Given the description of an element on the screen output the (x, y) to click on. 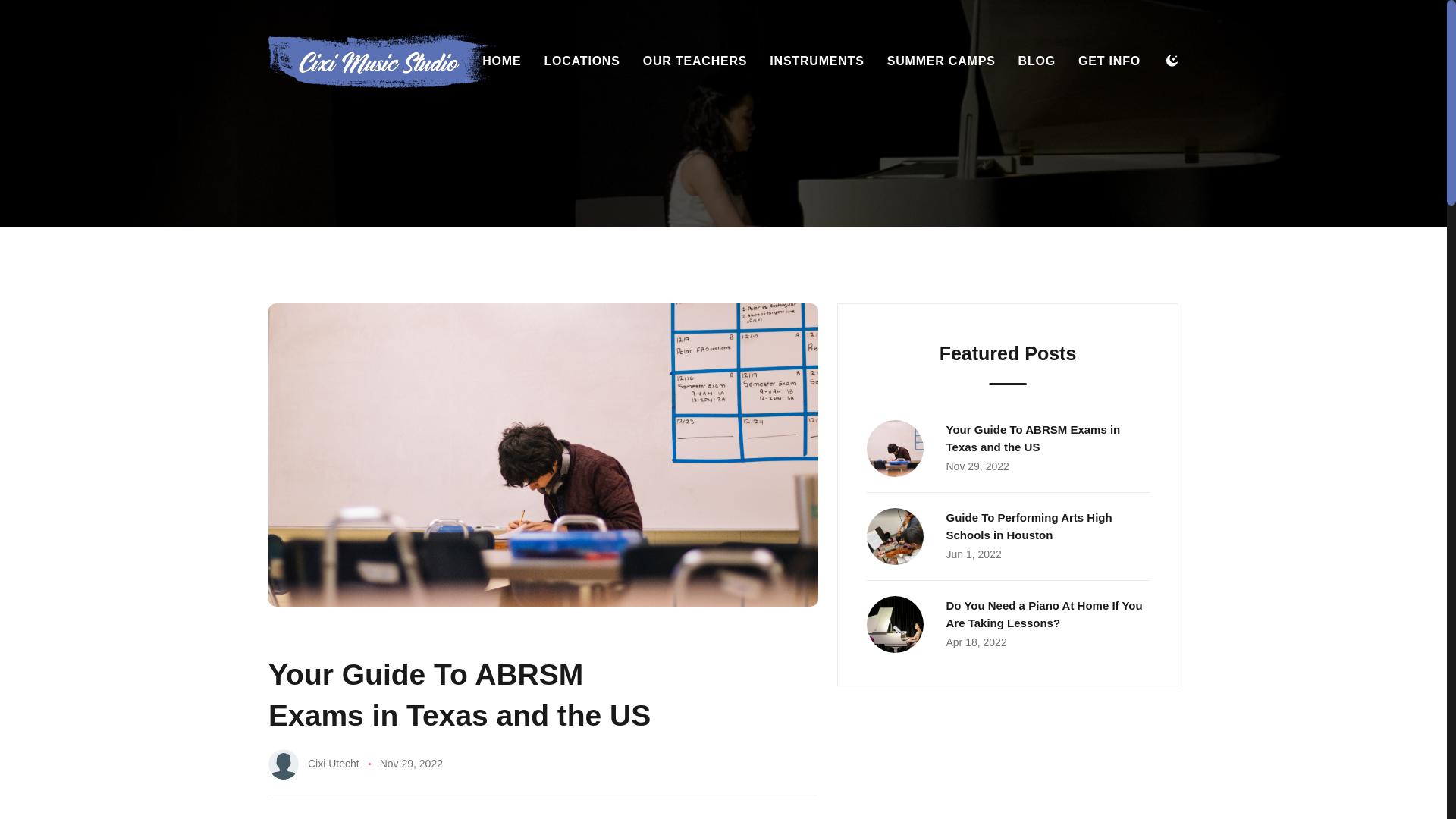
GET INFO (1109, 54)
BLOG (1036, 54)
OUR TEACHERS (1007, 536)
HOME (695, 54)
